Given the description of an element on the screen output the (x, y) to click on. 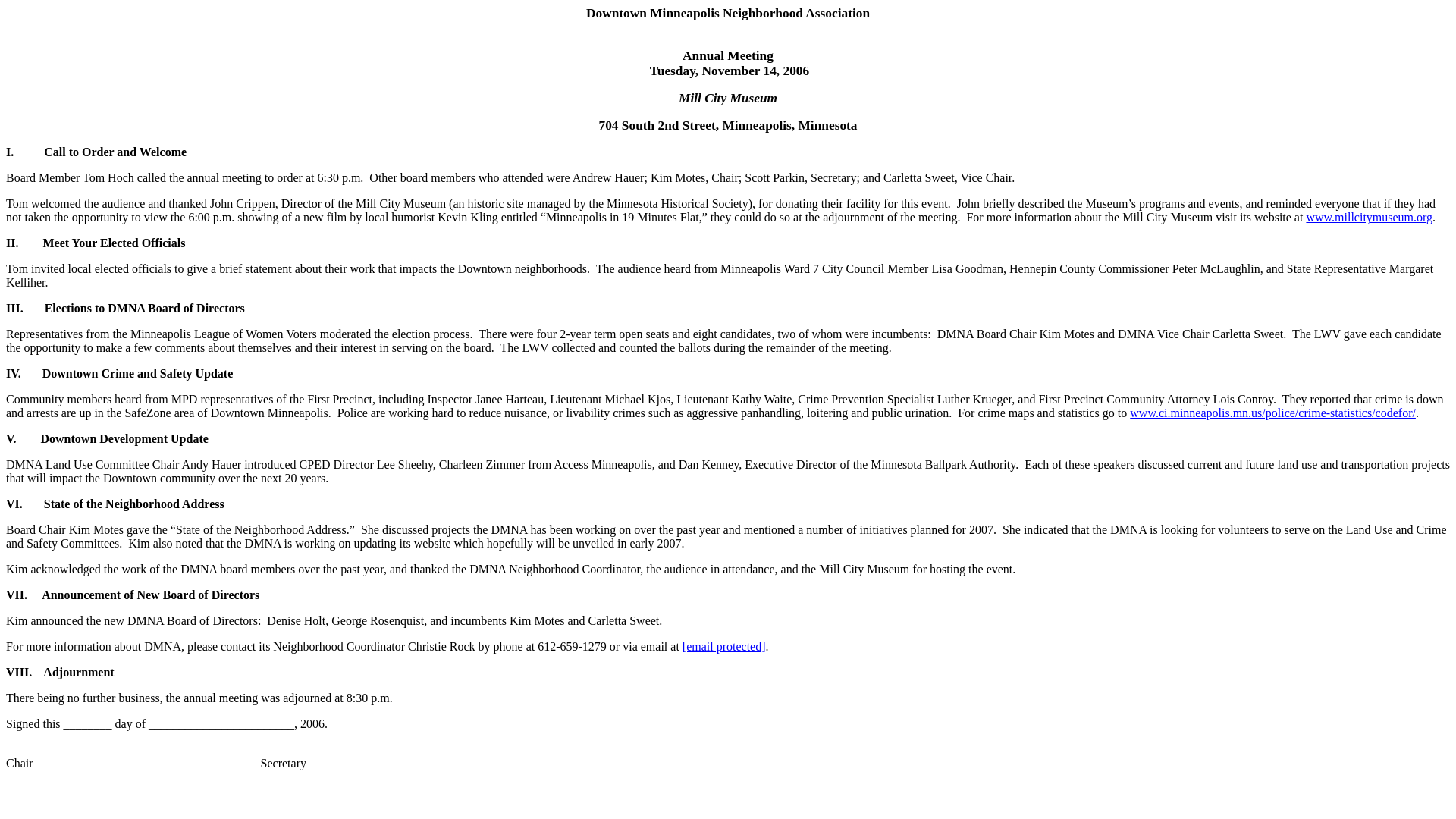
www.millcitymuseum.org (1369, 216)
